Given the description of an element on the screen output the (x, y) to click on. 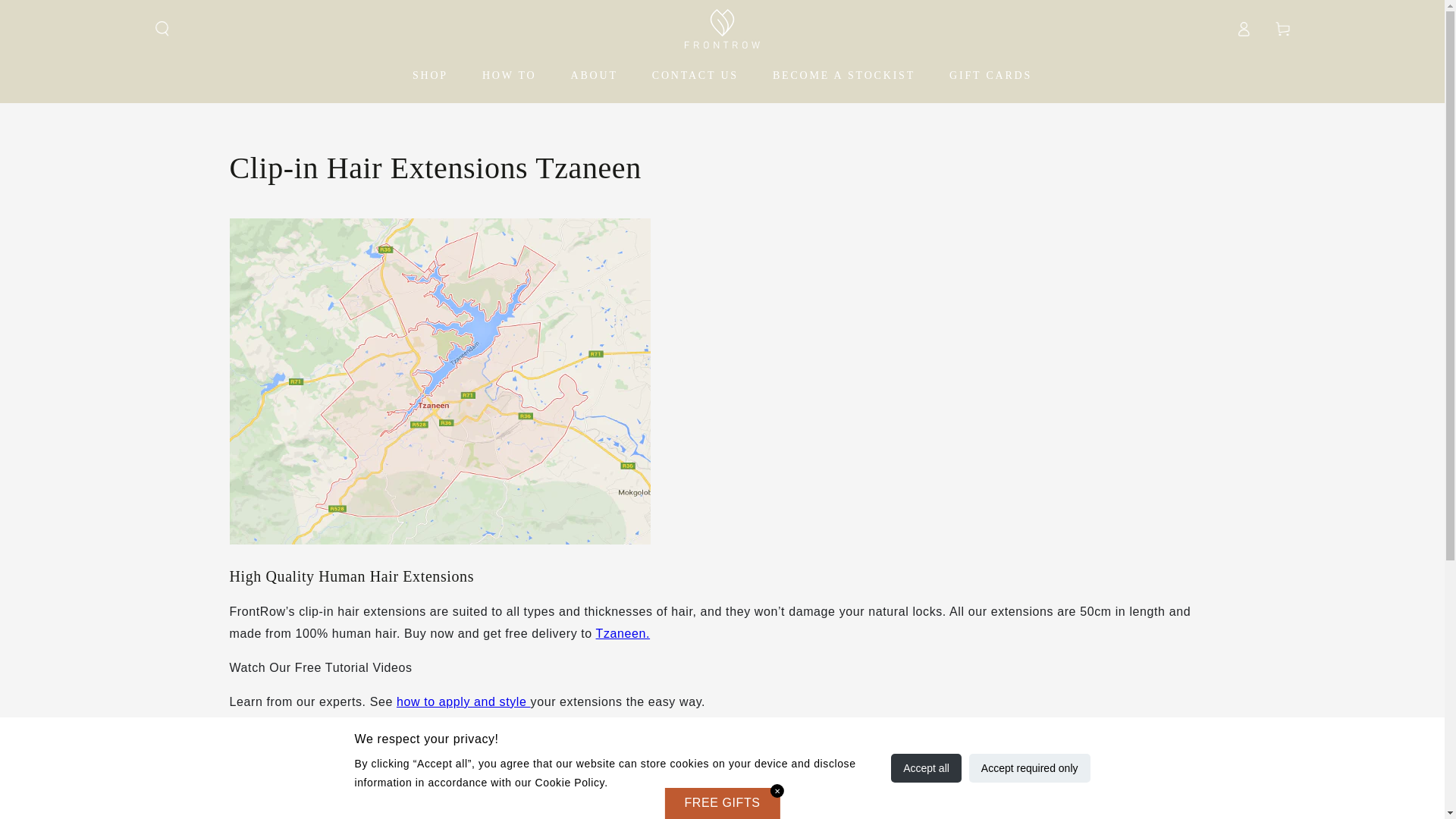
SHOP (430, 74)
Accept all (925, 767)
Accept required only (1029, 767)
SKIP TO CONTENT (67, 14)
